Given the description of an element on the screen output the (x, y) to click on. 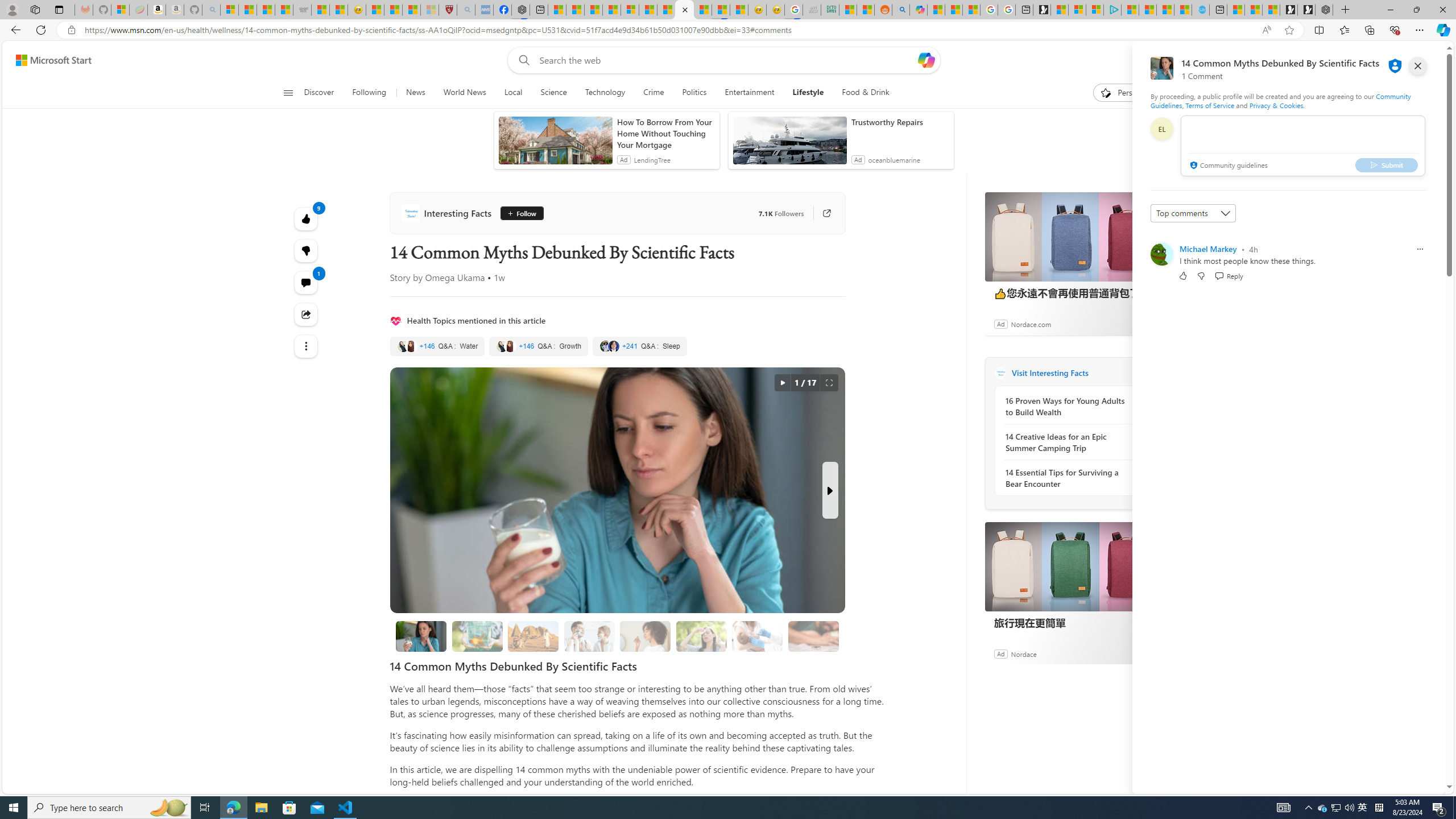
Share this story (305, 314)
comment-box (1302, 145)
Crime (653, 92)
Reply Reply Comment (1228, 275)
Community Guidelines (1280, 100)
9 Like (305, 218)
Water (437, 346)
5. Childhood Was High-Risk (757, 635)
